Given the description of an element on the screen output the (x, y) to click on. 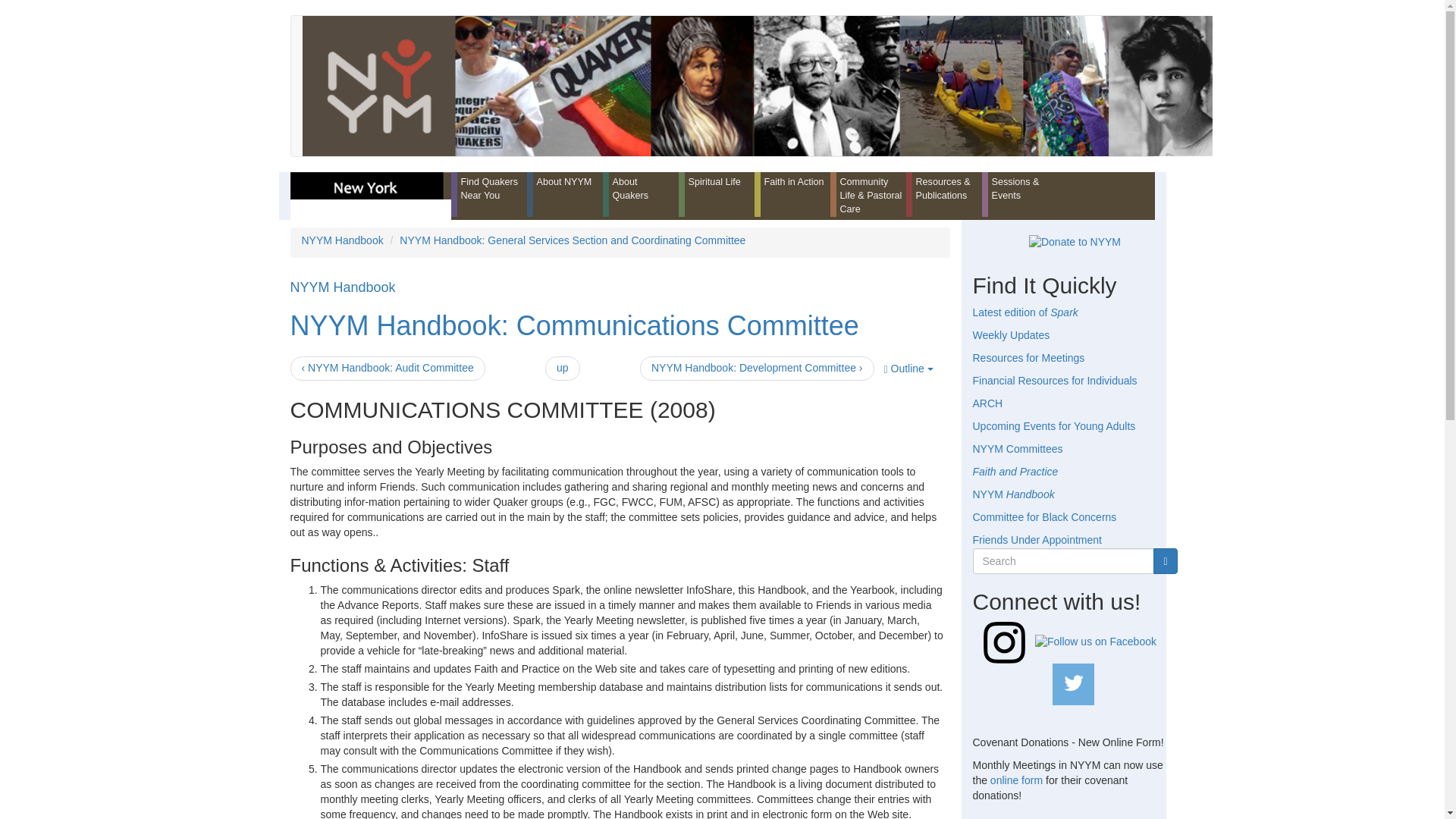
Home (762, 85)
About NYYM (563, 194)
Go to previous page (386, 368)
About Quakers (640, 194)
Find Quakers Near You (487, 194)
Go to next page (757, 368)
Go to parent page (561, 368)
Enter the terms you wish to search for. (1063, 560)
